Given the description of an element on the screen output the (x, y) to click on. 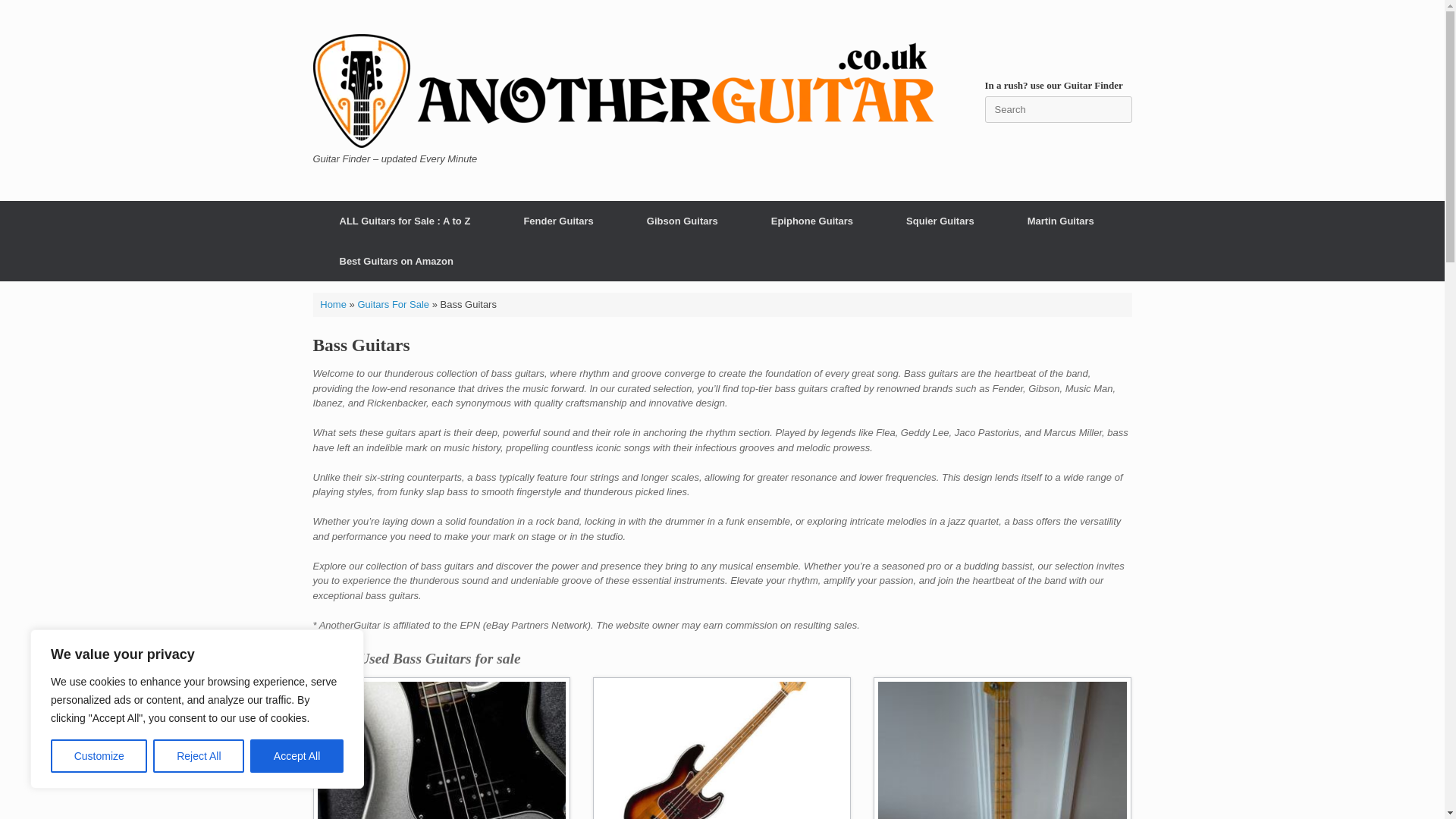
Accept All (296, 756)
AnotherGuitar.co.uk (623, 91)
Reject All (198, 756)
Customize (98, 756)
ALL Guitars for Sale : A to Z (404, 219)
